Given the description of an element on the screen output the (x, y) to click on. 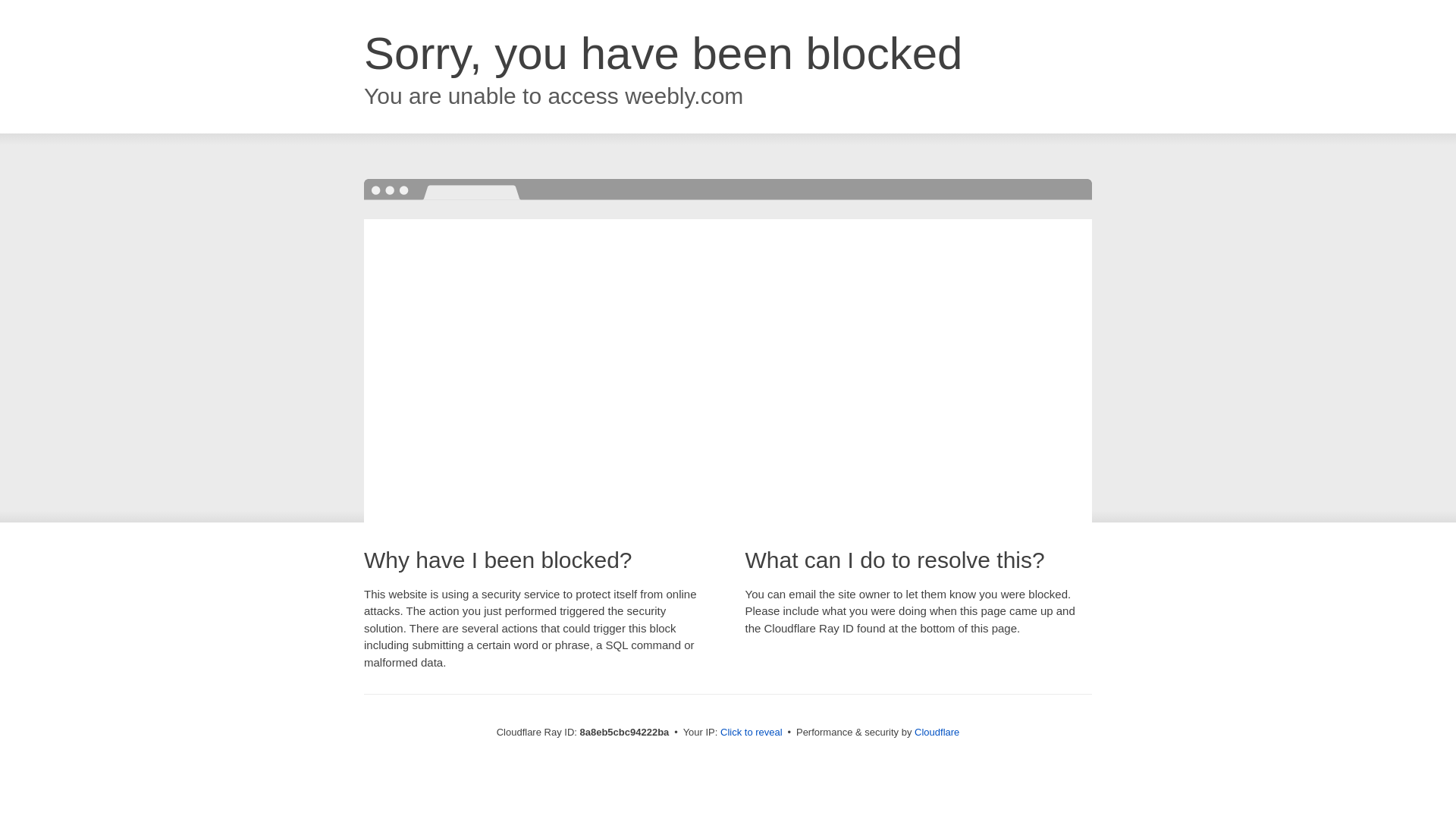
Click to reveal (751, 732)
Cloudflare (936, 731)
